Given the description of an element on the screen output the (x, y) to click on. 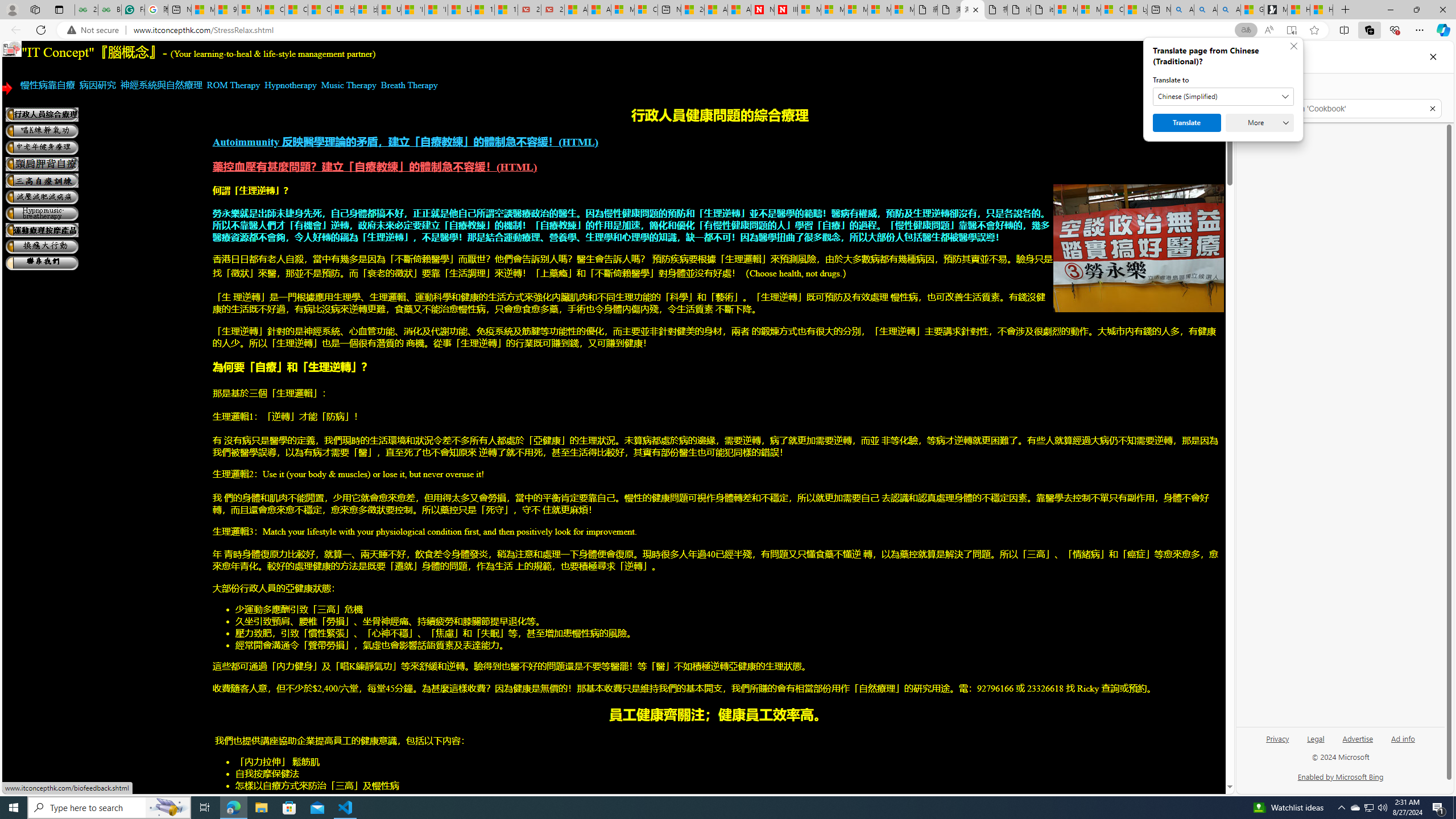
Translate to (1223, 96)
Back to list of collections (1250, 90)
itconcepthk.com/projector_solutions.mp4 (1042, 9)
